Given the description of an element on the screen output the (x, y) to click on. 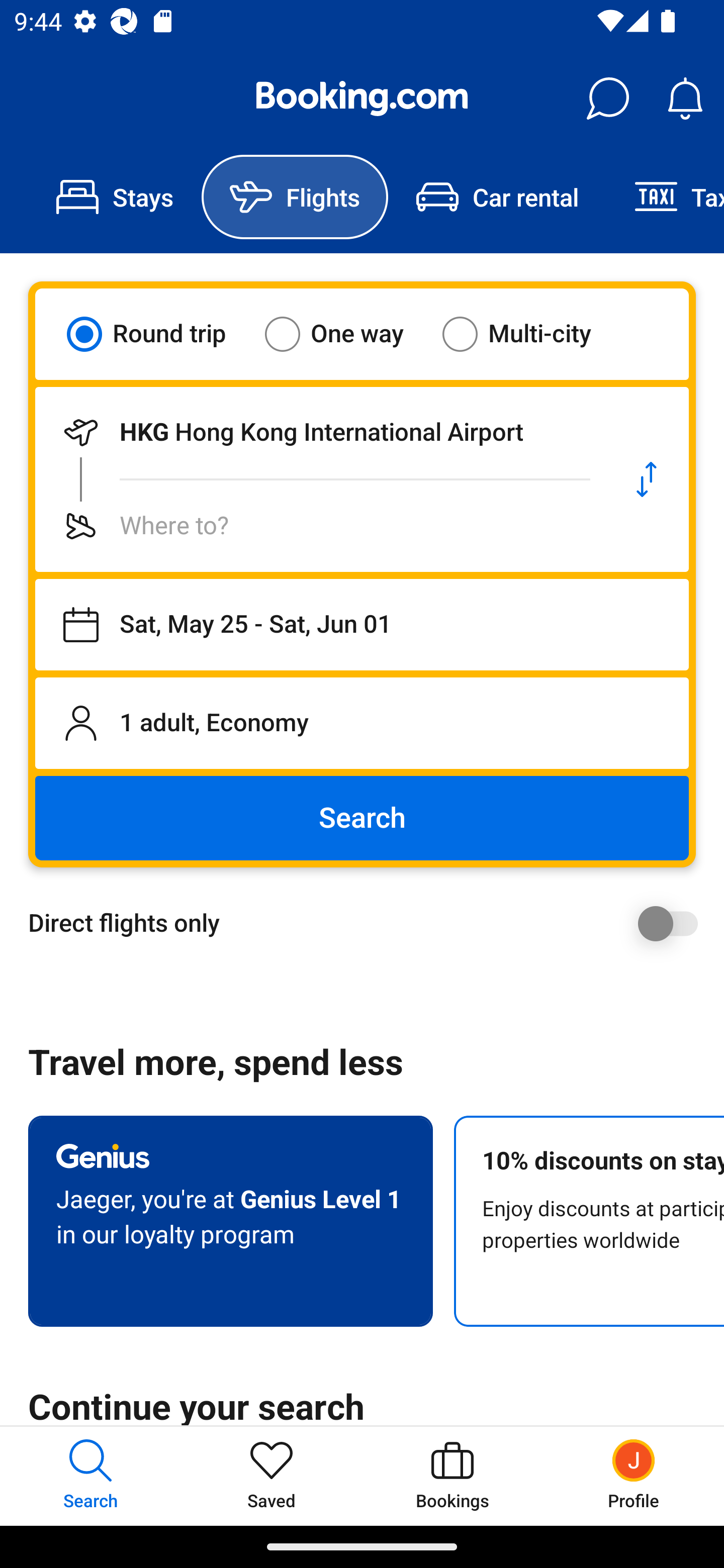
Messages (607, 98)
Notifications (685, 98)
Stays (114, 197)
Flights (294, 197)
Car rental (497, 197)
Taxi (665, 197)
One way (346, 333)
Multi-city (528, 333)
Departing from HKG Hong Kong International Airport (319, 432)
Swap departure location and destination (646, 479)
Flying to  (319, 525)
Departing on Sat, May 25, returning on Sat, Jun 01 (361, 624)
1 adult, Economy (361, 722)
Search (361, 818)
Direct flights only (369, 923)
Saved (271, 1475)
Bookings (452, 1475)
Profile (633, 1475)
